Given the description of an element on the screen output the (x, y) to click on. 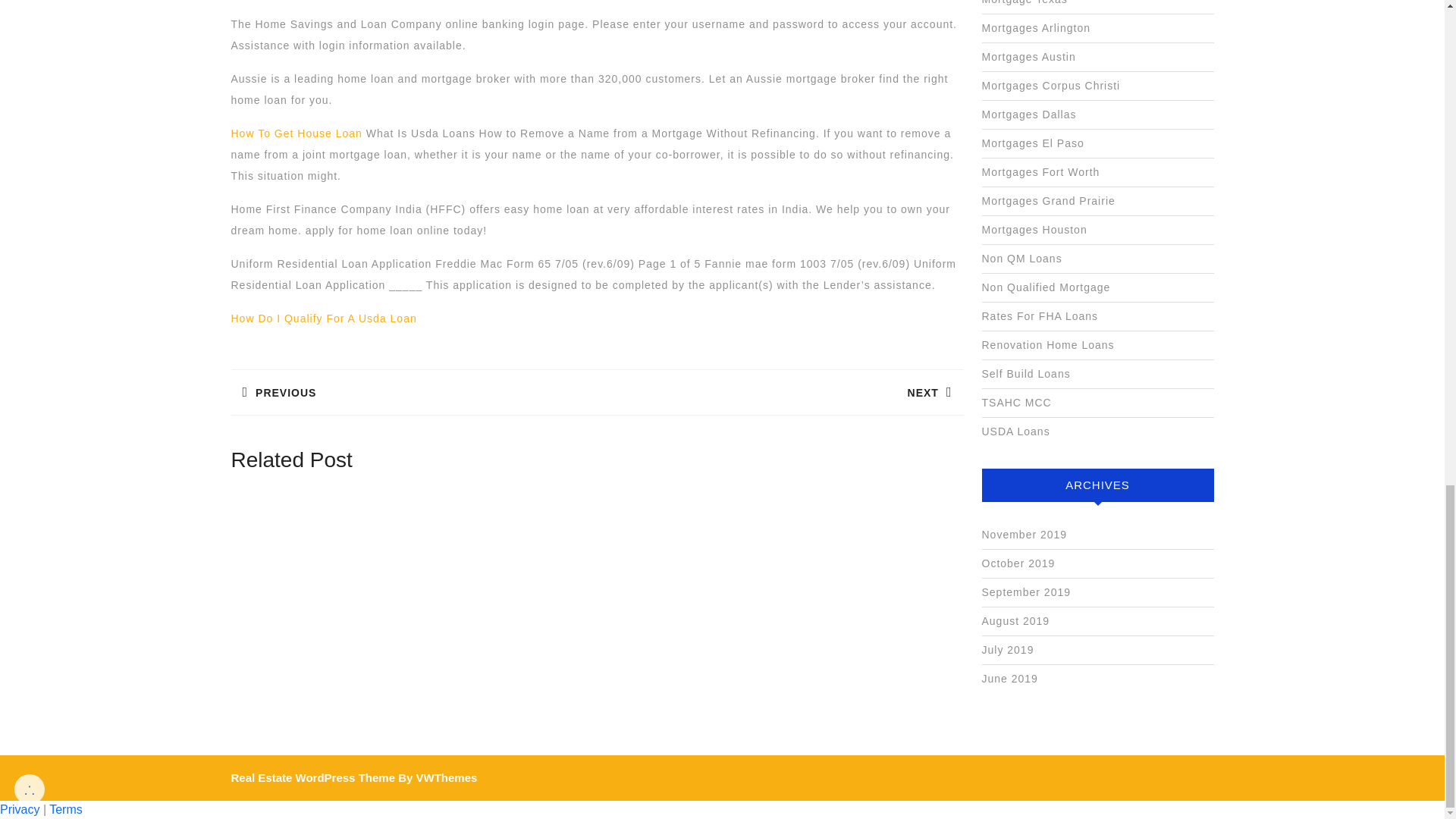
How Do I Qualify For A Usda Loan (779, 392)
How To Get House Loan (323, 318)
